Given the description of an element on the screen output the (x, y) to click on. 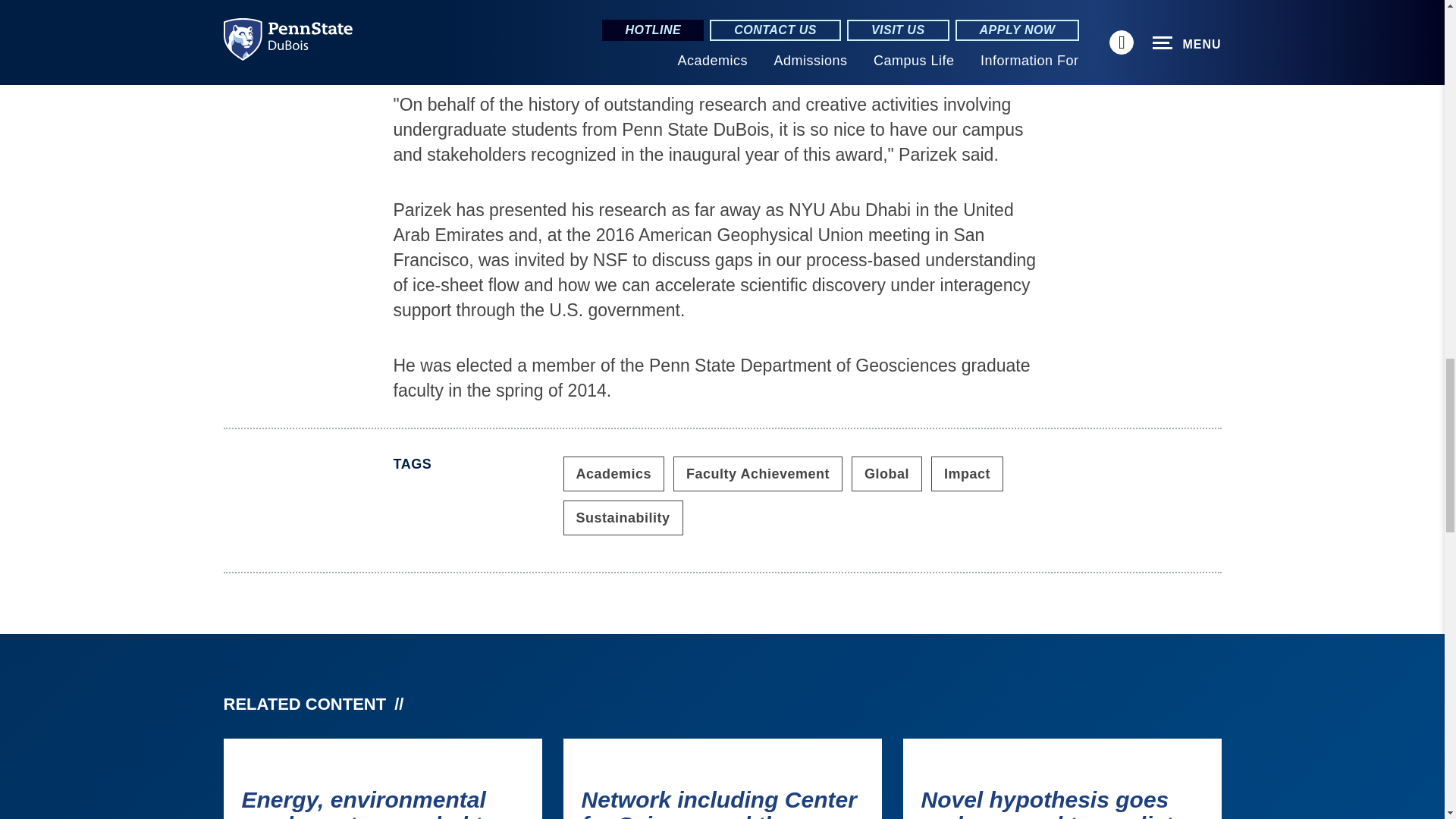
Content tagged with Academics (612, 473)
Content tagged with Global (886, 473)
Content tagged with Impact (967, 473)
Content tagged with Sustainability (622, 517)
Content tagged with Faculty Achievement (757, 473)
